Given the description of an element on the screen output the (x, y) to click on. 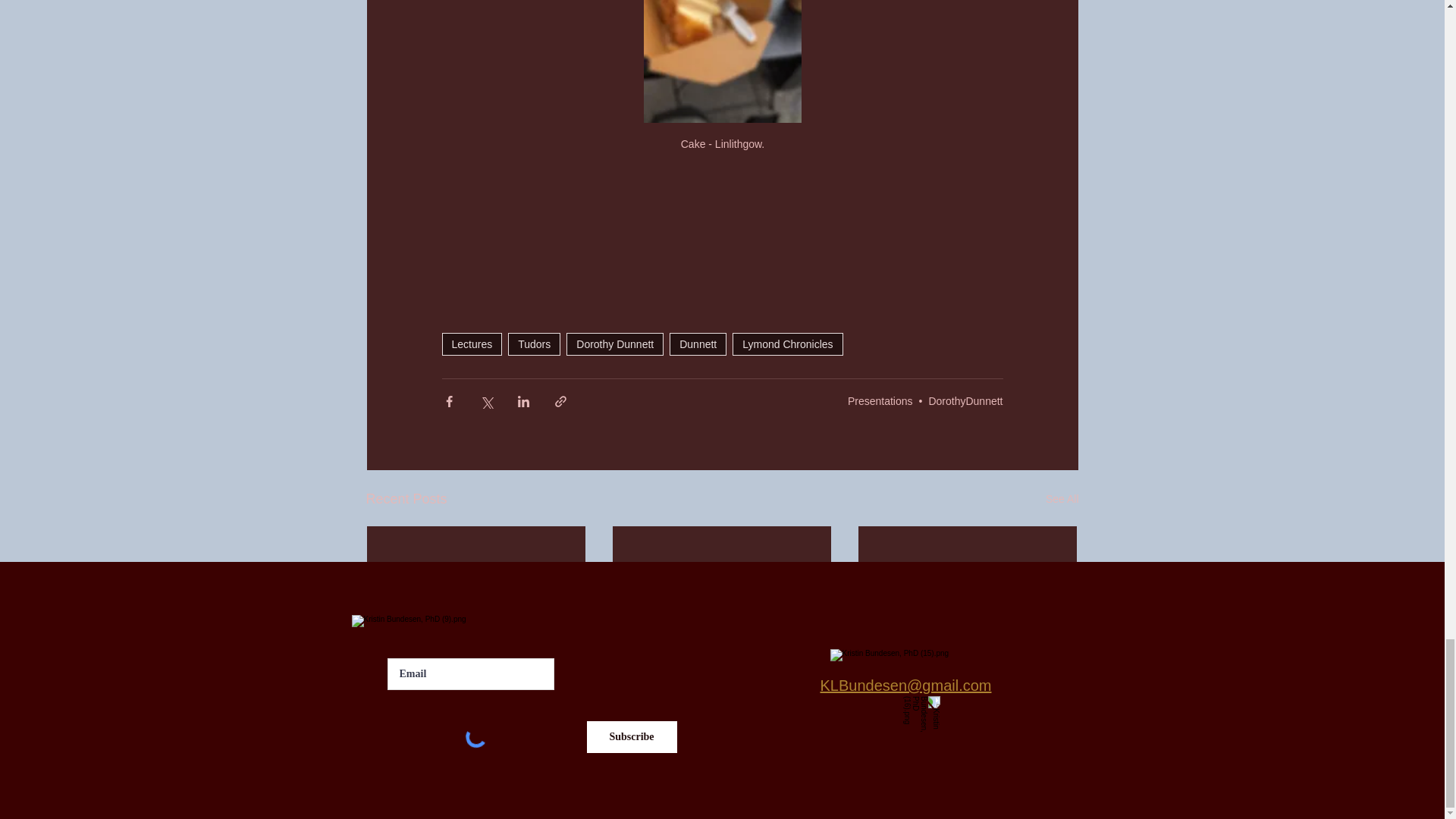
Lymond Chronicles (787, 343)
See All (1061, 499)
Presentations (879, 400)
Diversity in the 15th and 16th Centuries (967, 683)
Lectures (471, 343)
DorothyDunnett (965, 400)
Dorothy Dunnett (614, 343)
Then I found Dorothy Dunnett (476, 675)
Dunnett (697, 343)
Dorothy Dunnett Centenary Gathering (721, 683)
Subscribe (631, 736)
Tudors (534, 343)
